Given the description of an element on the screen output the (x, y) to click on. 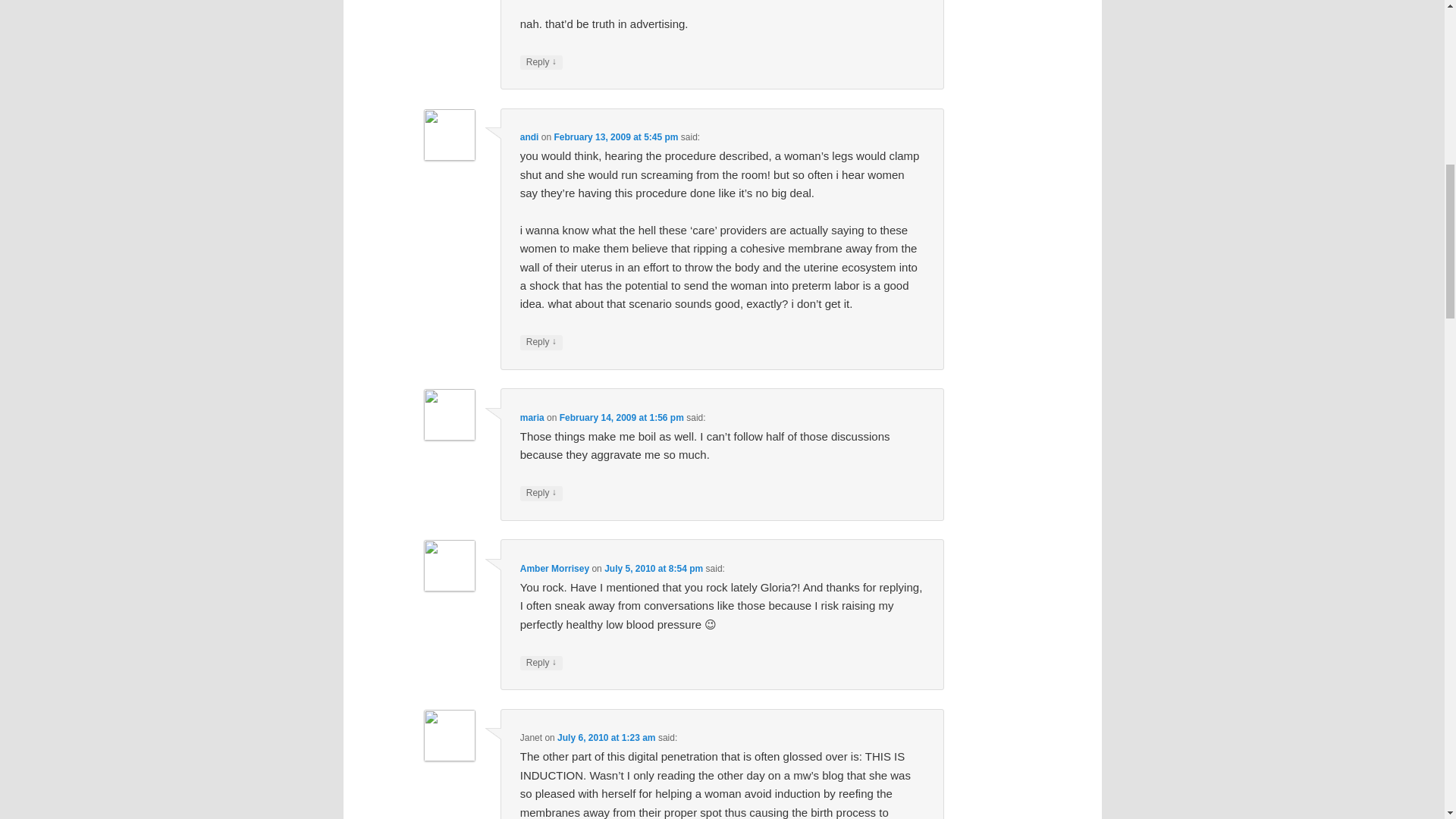
Amber Morrisey (554, 568)
February 14, 2009 at 1:56 pm (621, 417)
July 6, 2010 at 1:23 am (606, 737)
July 5, 2010 at 8:54 pm (653, 568)
andi (528, 136)
maria (531, 417)
February 13, 2009 at 5:45 pm (615, 136)
